Given the description of an element on the screen output the (x, y) to click on. 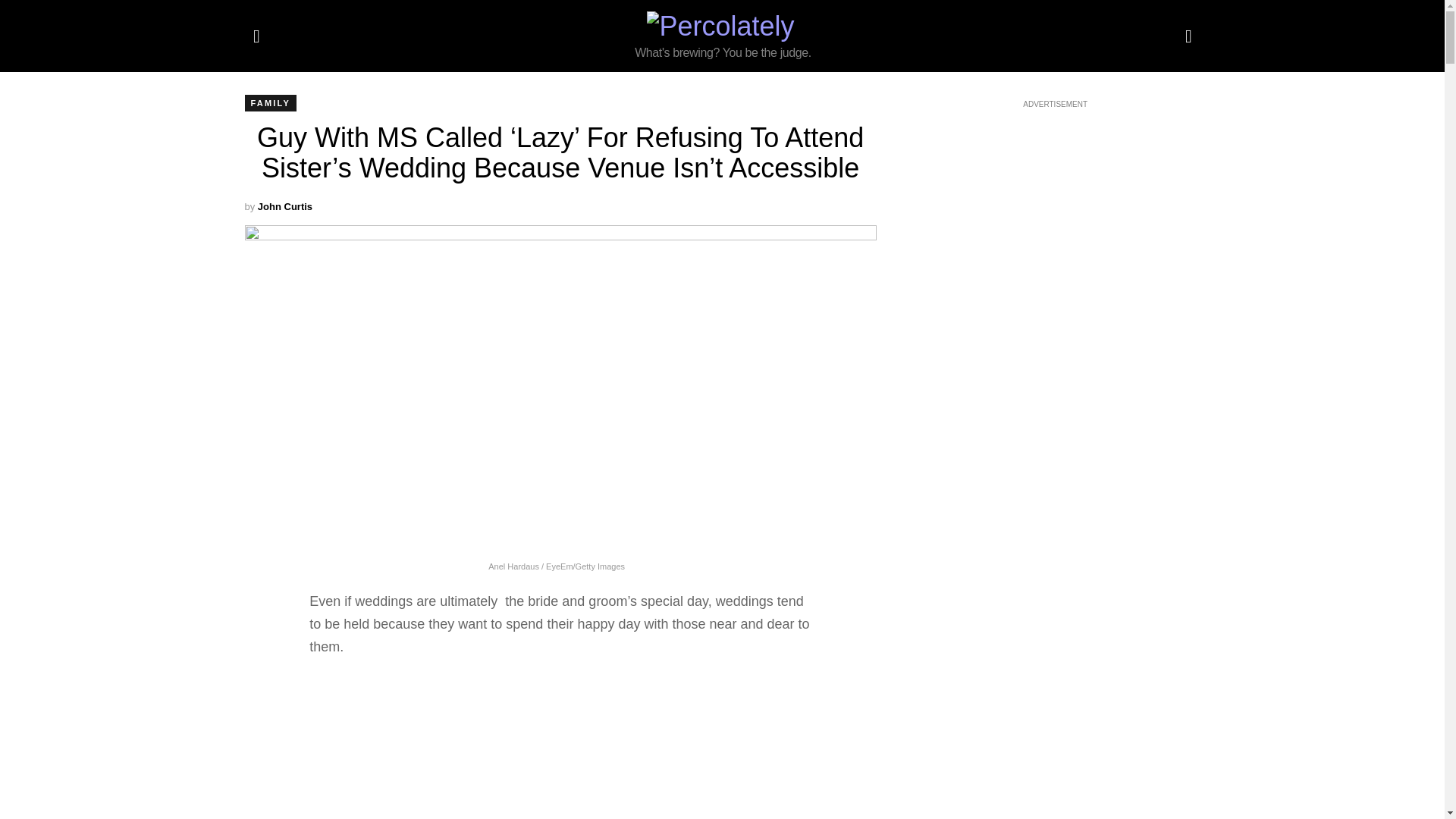
FAMILY (270, 103)
John Curtis (285, 206)
Posts by John Curtis (285, 206)
